Given the description of an element on the screen output the (x, y) to click on. 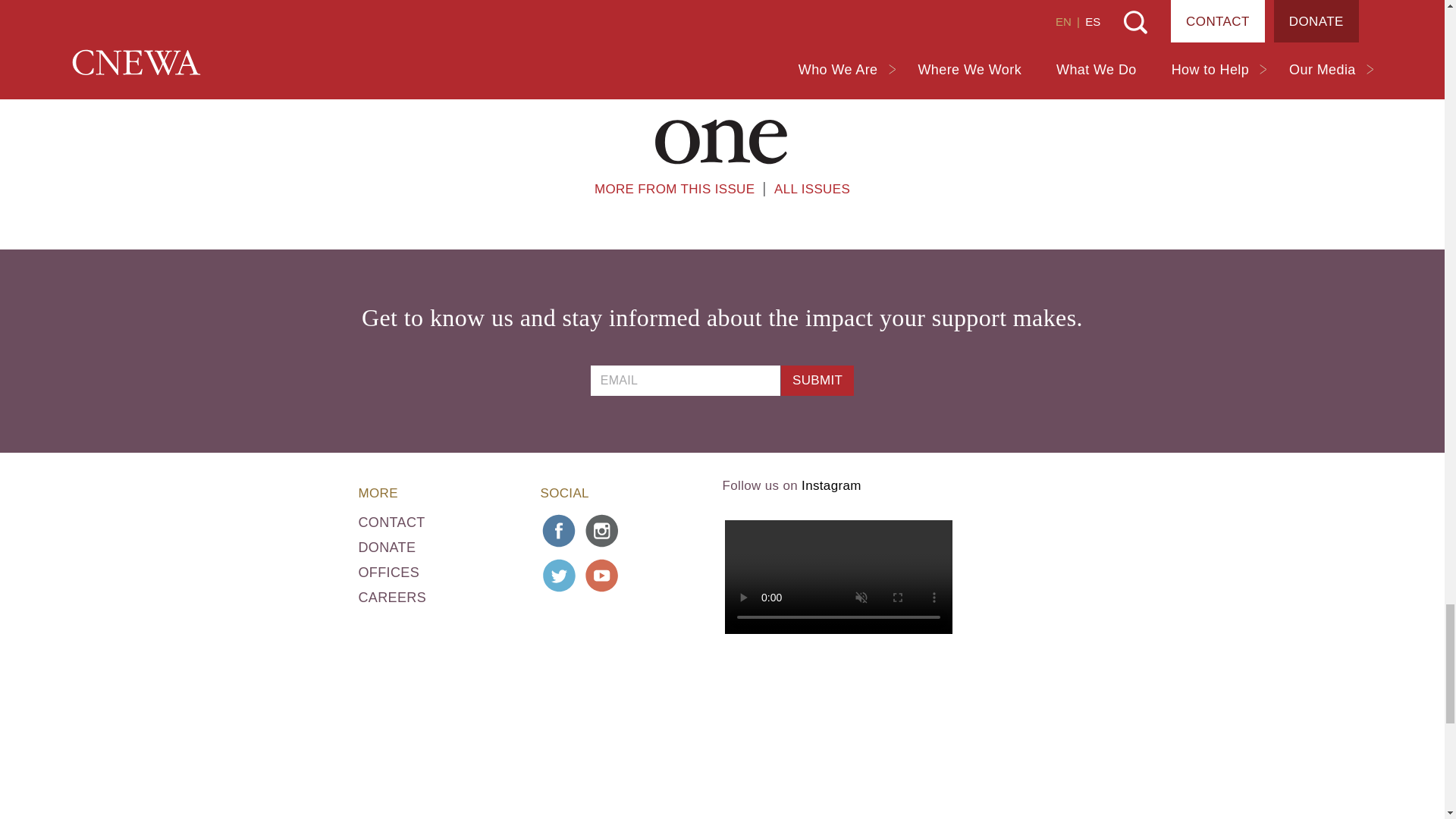
see all ONE Magazine isaues (721, 141)
Visit CNEWA on Instgram (602, 530)
read more articles from the August 1989 issue (674, 188)
Submit (816, 380)
Visit CNEWA on Twitter (559, 575)
Visit CNEWA on Facebook (559, 530)
Visit CNEWA on YouTube (602, 575)
